Given the description of an element on the screen output the (x, y) to click on. 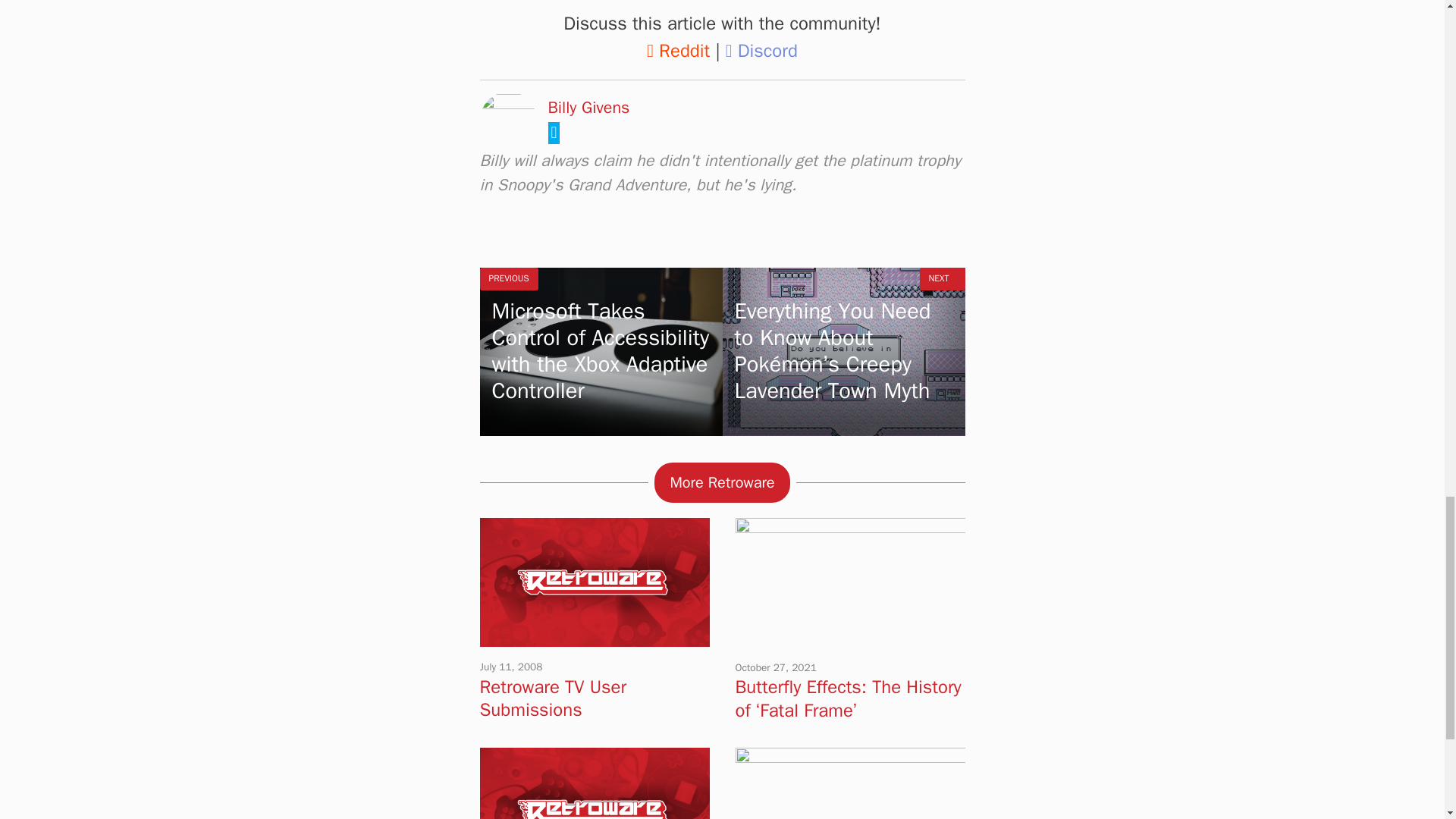
Billy Givens (587, 107)
Retroware TV User Submissions (594, 637)
11:47 am (510, 666)
Retroware TV User Submissions (552, 698)
2:30 pm (775, 667)
July 11, 2008 (510, 666)
October 27, 2021 (775, 667)
Reddit (678, 50)
Discord (761, 50)
